Given the description of an element on the screen output the (x, y) to click on. 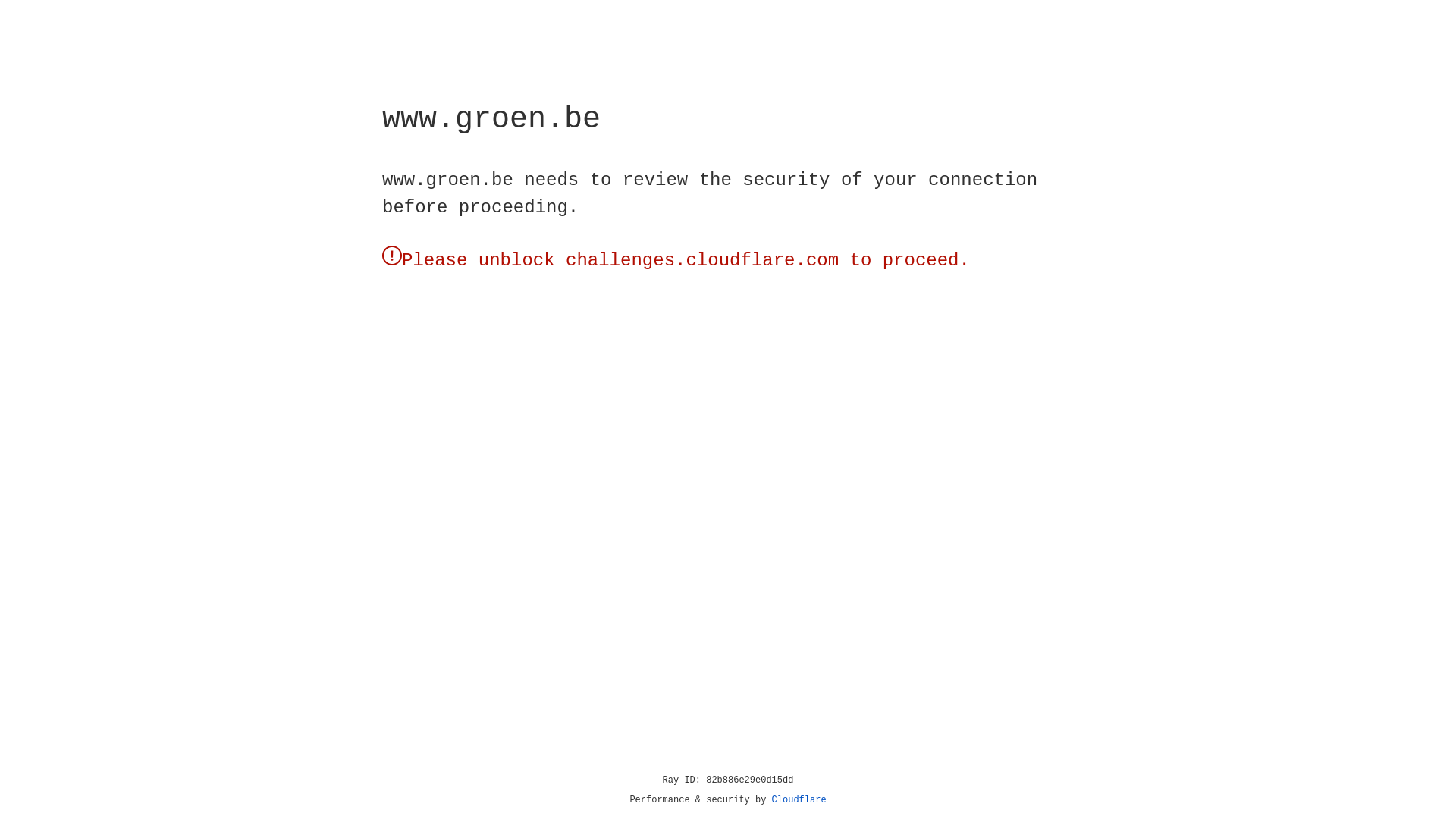
Cloudflare Element type: text (165, 107)
